Given the description of an element on the screen output the (x, y) to click on. 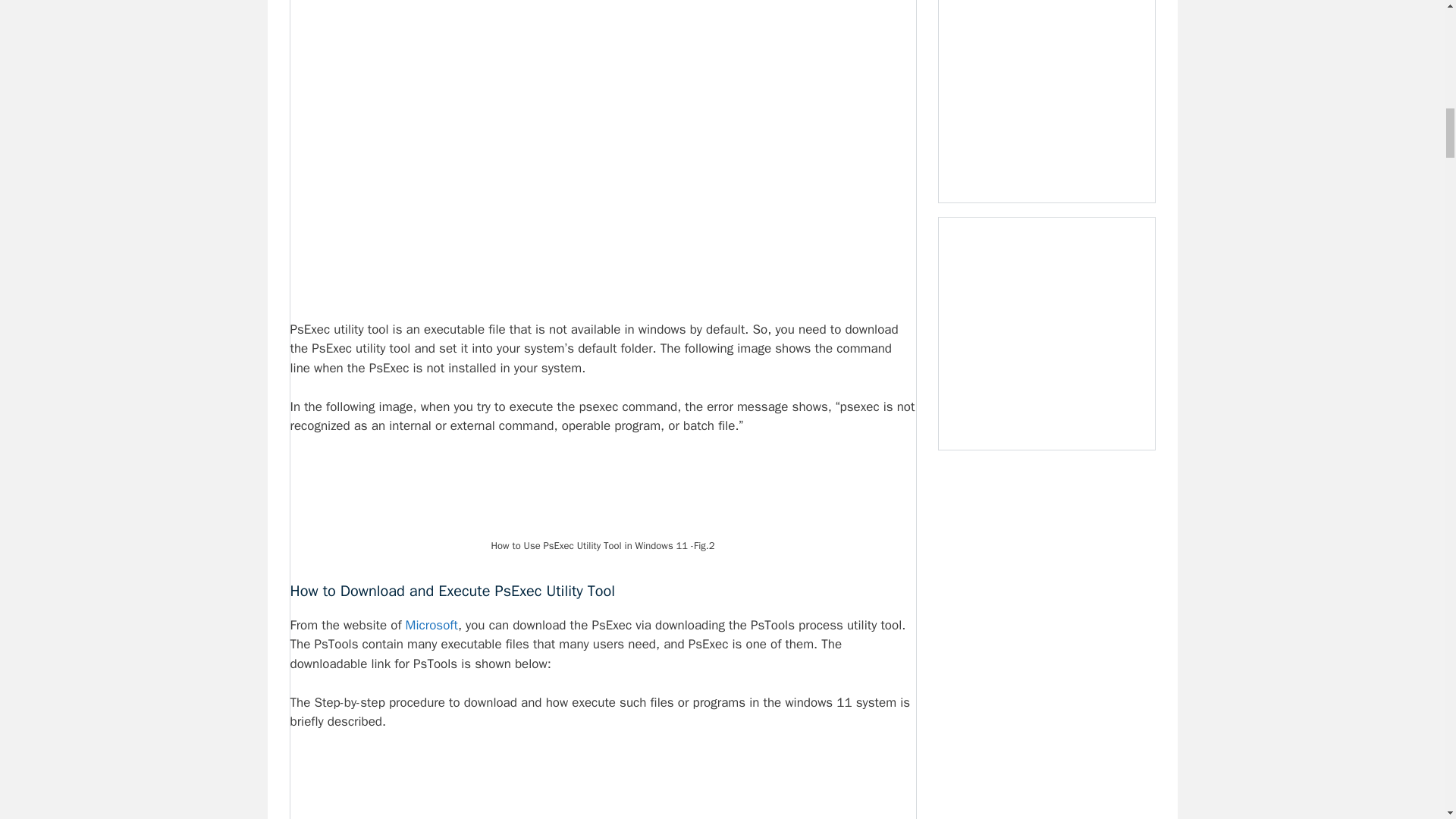
Microsoft (432, 625)
How to Use PsExec Utility Tool in Windows 11 2 (603, 494)
